Given the description of an element on the screen output the (x, y) to click on. 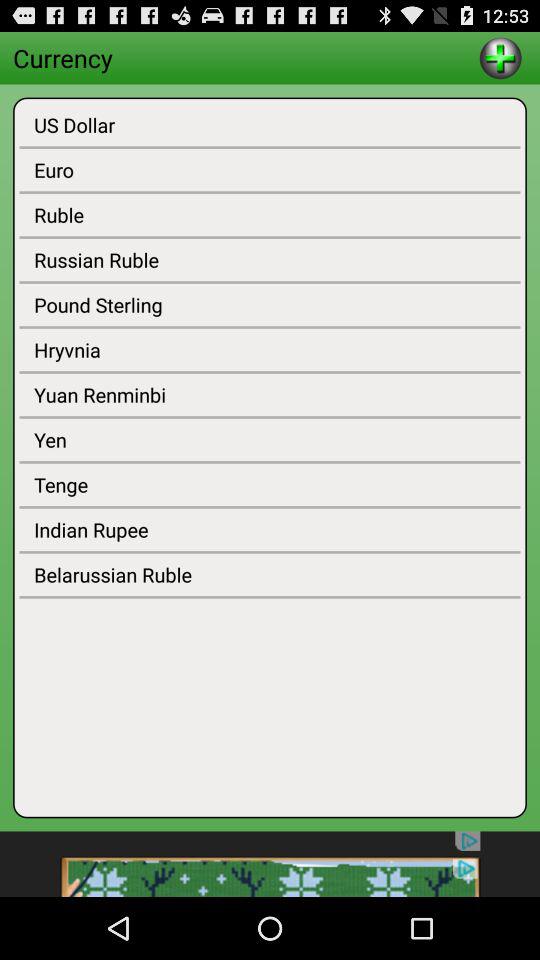
add button (500, 57)
